Given the description of an element on the screen output the (x, y) to click on. 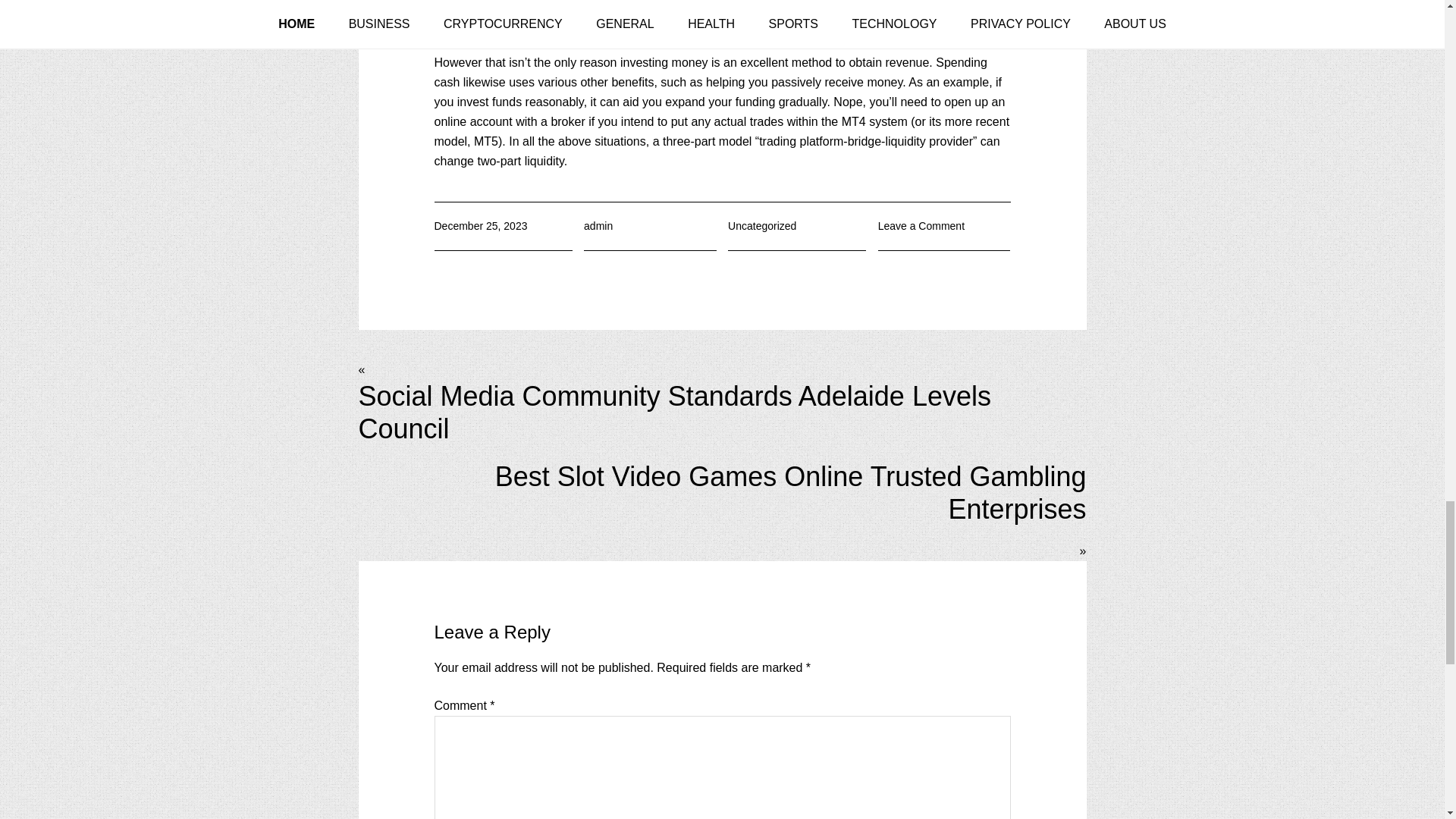
Leave a Comment (920, 225)
admin (597, 225)
Uncategorized (762, 225)
